Given the description of an element on the screen output the (x, y) to click on. 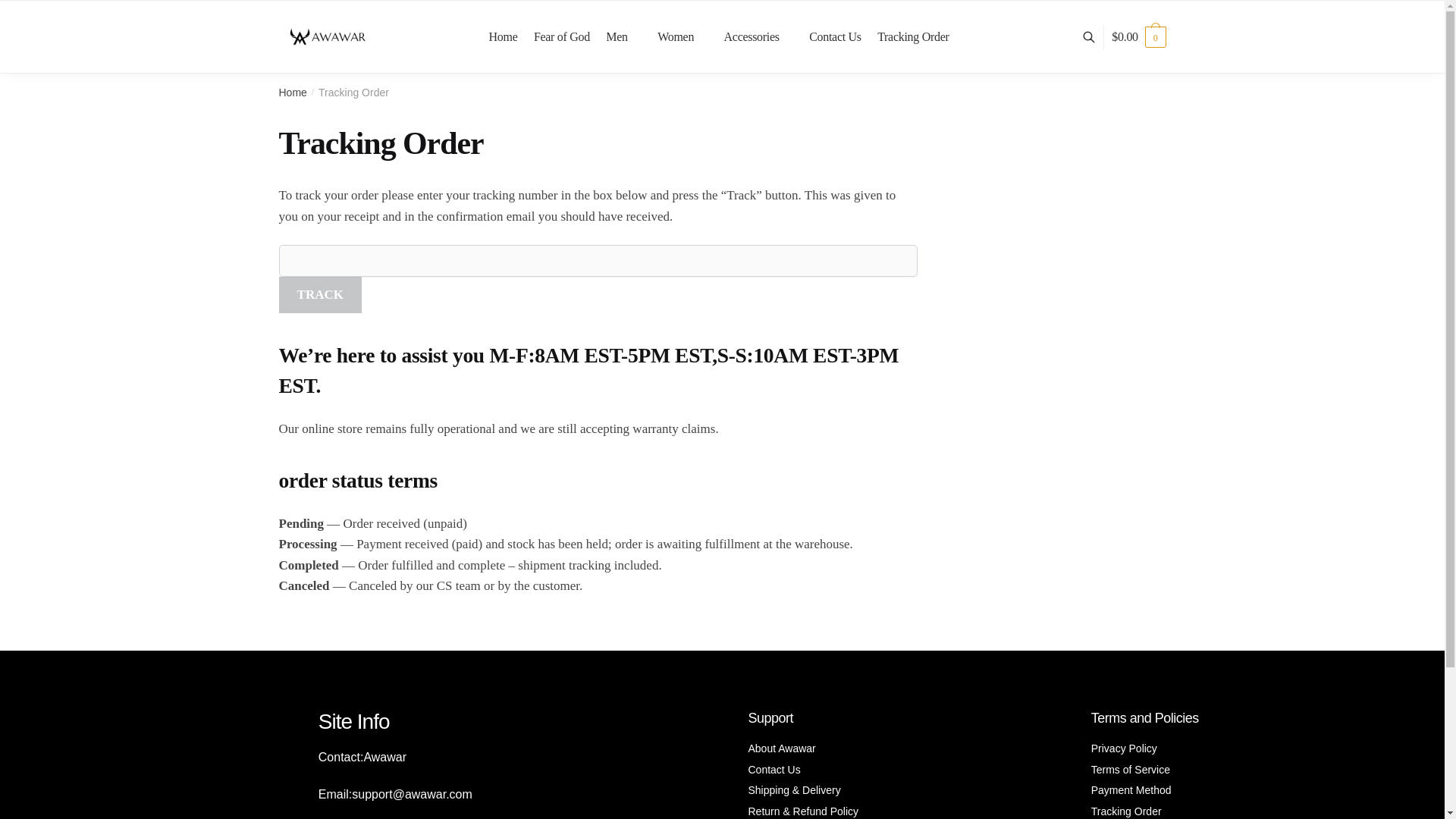
Fear of God (561, 36)
Accessories (758, 36)
TRACK (320, 294)
View your shopping cart (1139, 35)
Tracking Order (912, 36)
Search (473, 47)
